Given the description of an element on the screen output the (x, y) to click on. 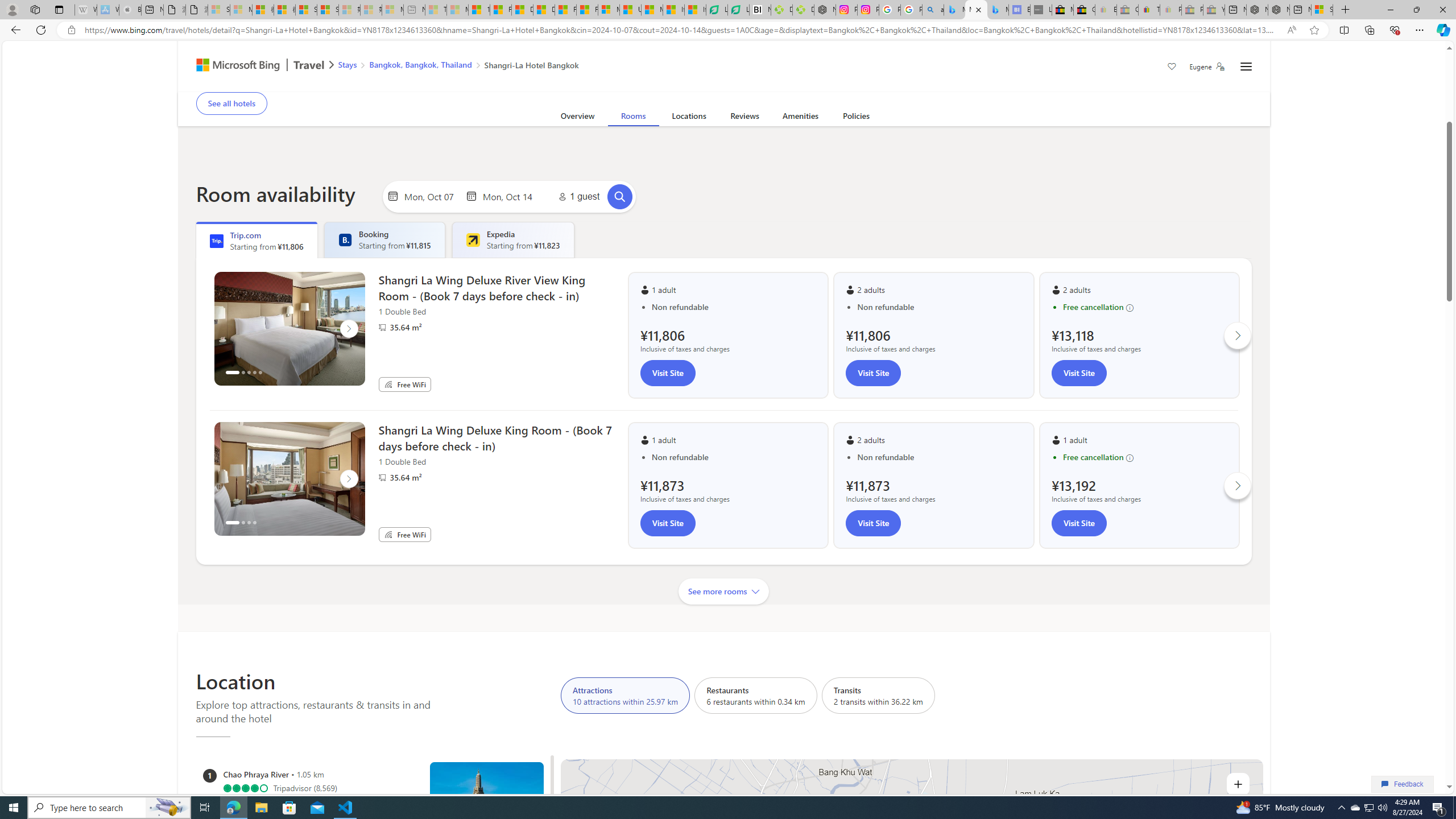
End date (510, 196)
Buy iPad - Apple - Sleeping (130, 9)
Trip.com (1205, 61)
Conference rooms (665, 84)
Valet parking (574, 84)
Microsoft Services Agreement - Sleeping (241, 9)
TripDotCom (216, 241)
